Given the description of an element on the screen output the (x, y) to click on. 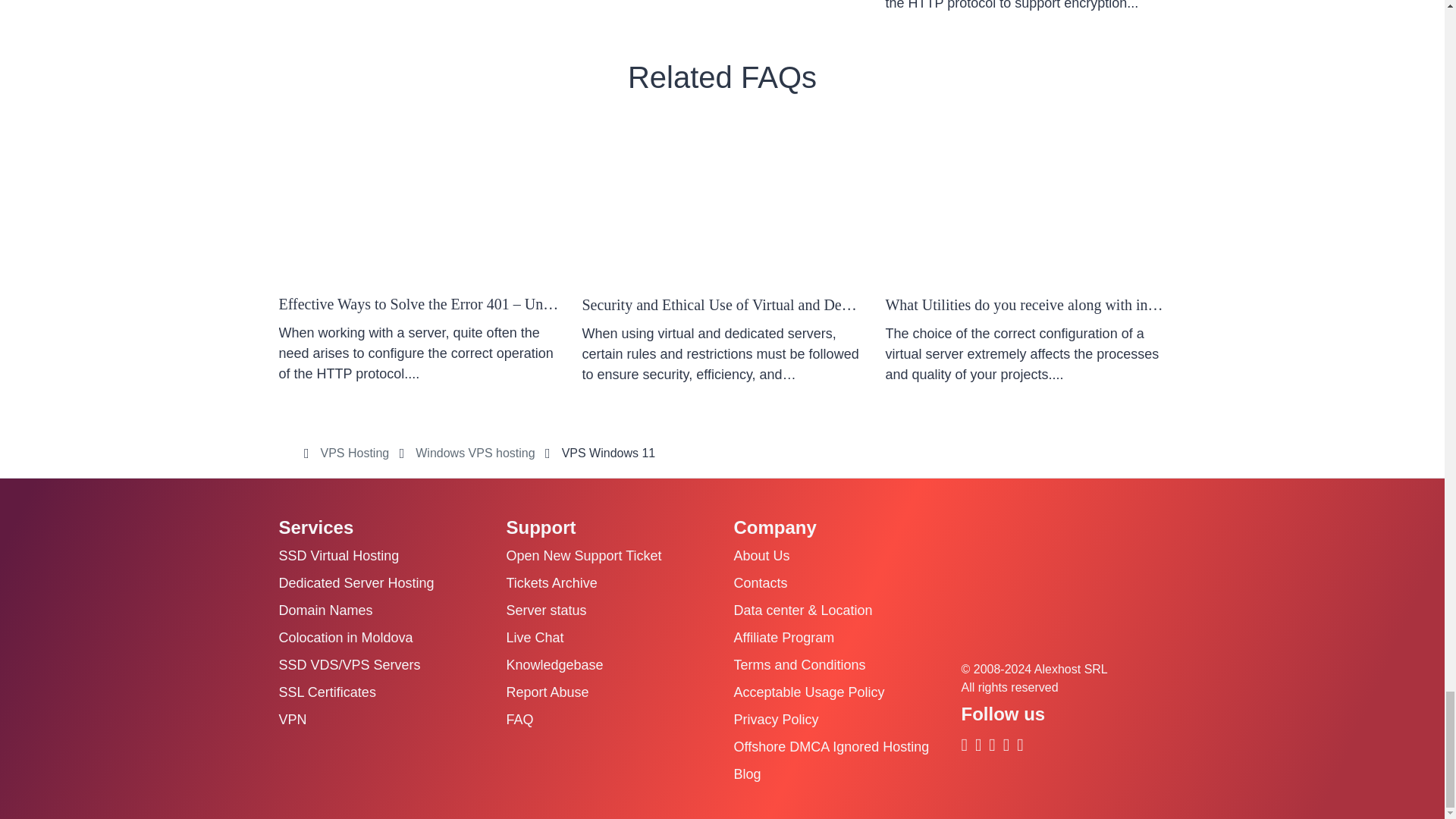
SSL Certificates (1025, 11)
